Given the description of an element on the screen output the (x, y) to click on. 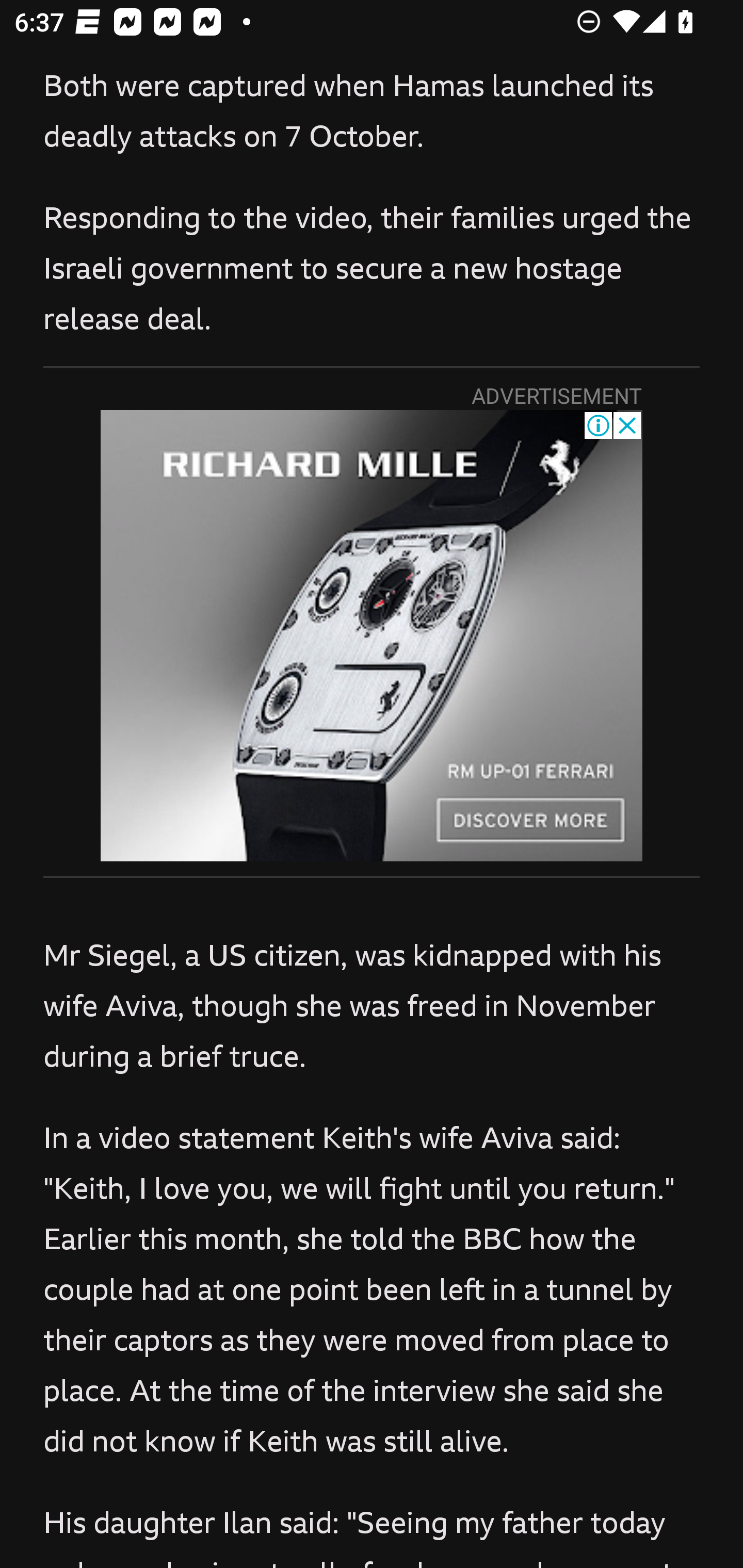
Advertisement (371, 636)
